Given the description of an element on the screen output the (x, y) to click on. 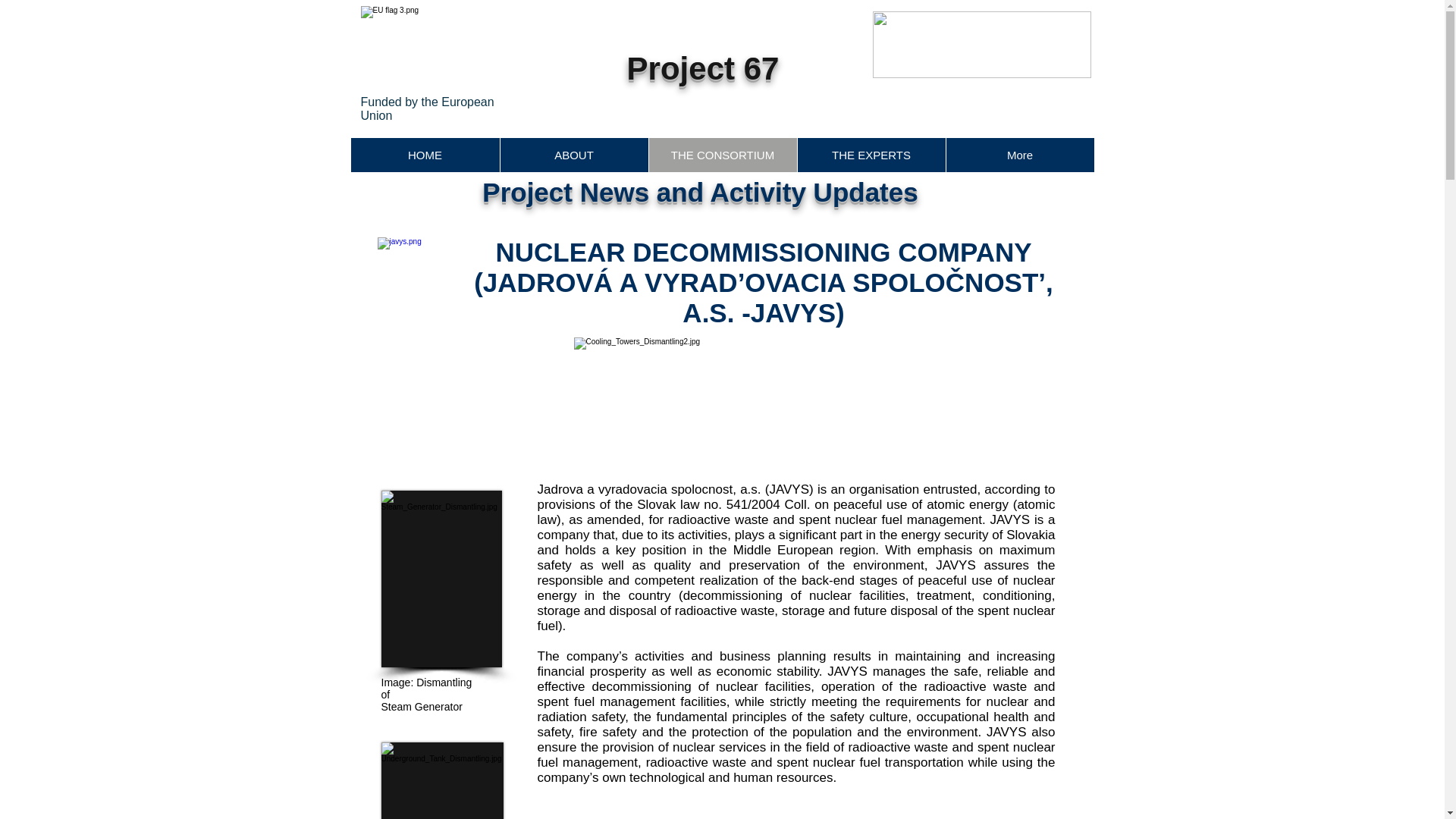
ABOUT (573, 154)
THE CONSORTIUM (721, 154)
THE EXPERTS (870, 154)
HOME (424, 154)
